Given the description of an element on the screen output the (x, y) to click on. 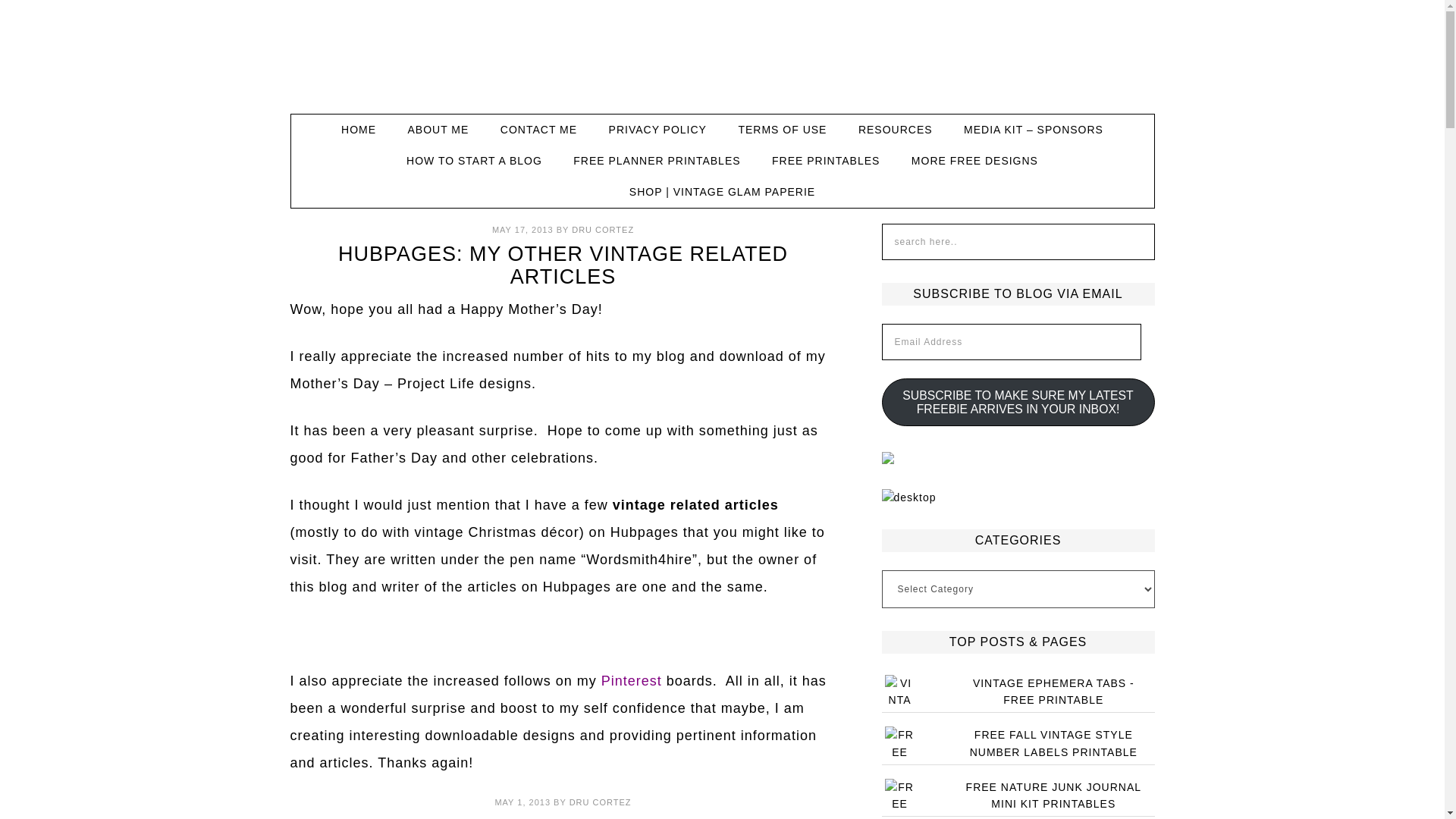
Vintage Ephemera Tabs - Free Printable (1053, 690)
MORE FREE DESIGNS (974, 160)
FREE PRINTABLES (825, 160)
HOME (358, 129)
RESOURCES (895, 129)
Free Fall Vintage Style Number Labels Printable (1053, 743)
PRIVACY POLICY (657, 129)
HUBPAGES: MY OTHER VINTAGE RELATED ARTICLES (562, 265)
Pinterest (629, 680)
DRU CORTEZ (602, 229)
TERMS OF USE (781, 129)
DRU CORTEZ (600, 801)
Free Nature Junk Journal Mini Kit Printables (1053, 795)
